Given the description of an element on the screen output the (x, y) to click on. 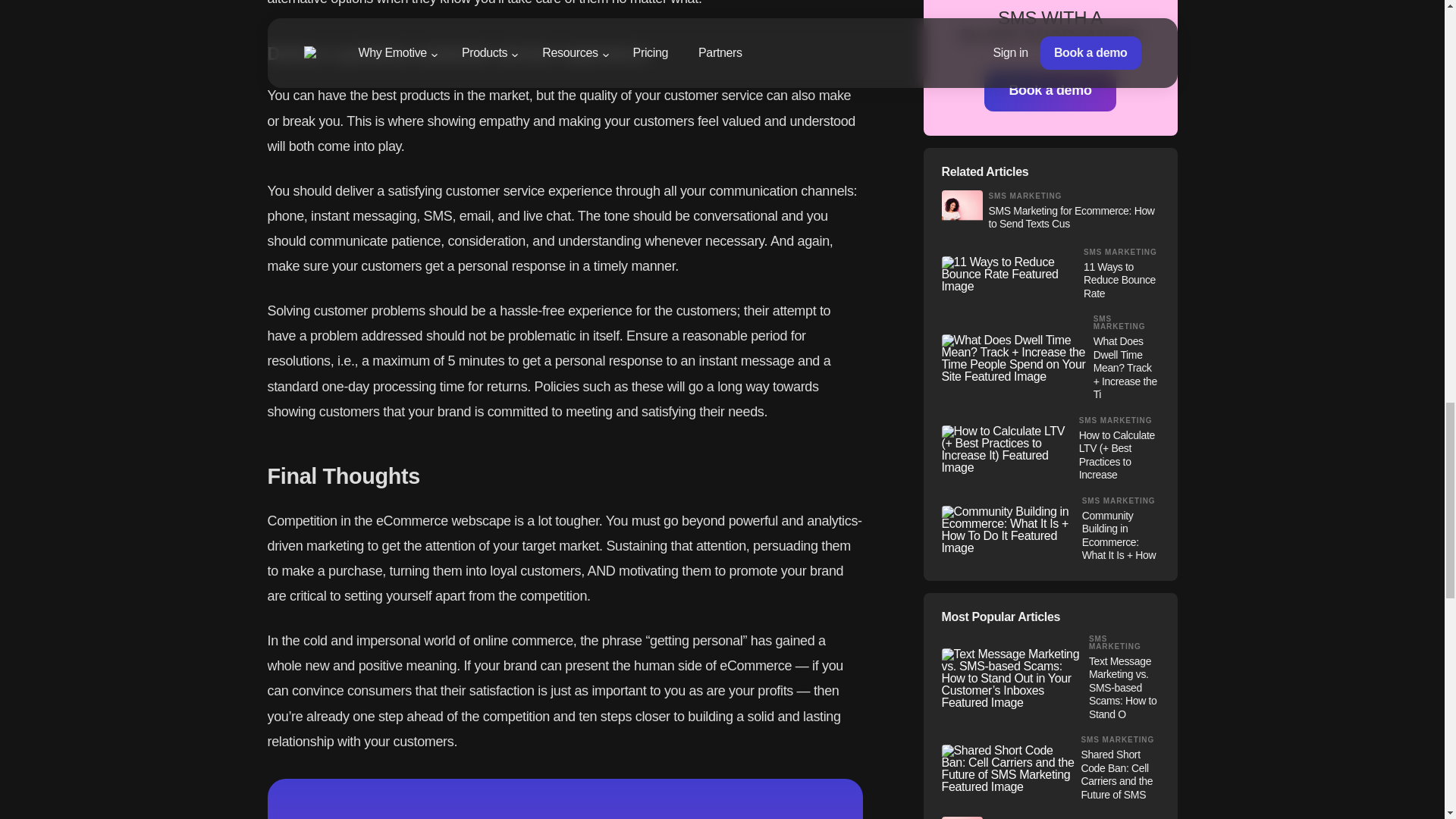
Book live demo (897, 495)
